Given the description of an element on the screen output the (x, y) to click on. 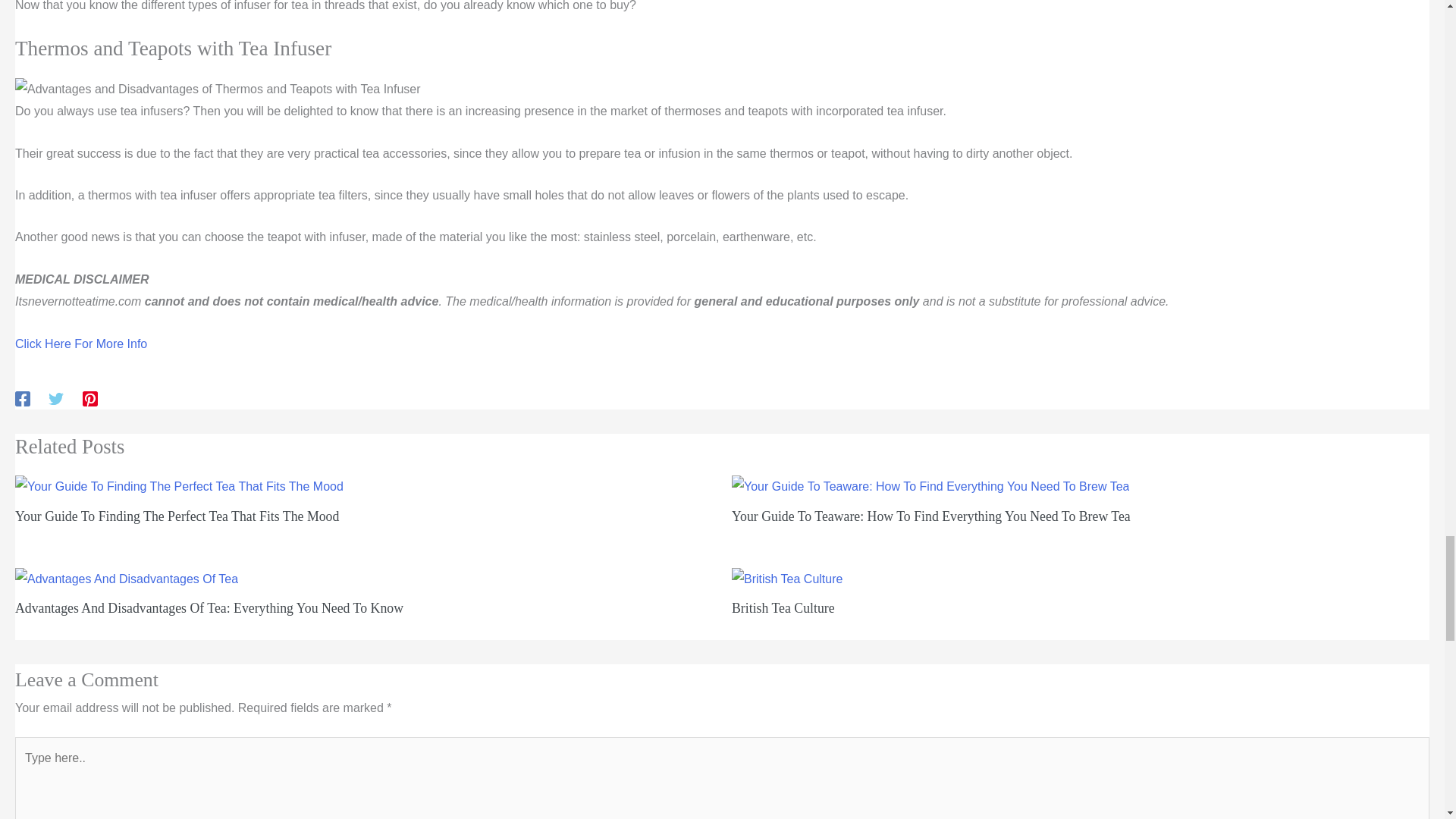
British Tea Culture (783, 607)
Your Guide To Finding The Perfect Tea That Fits The Mood (176, 516)
Click Here For More Info (80, 343)
